Given the description of an element on the screen output the (x, y) to click on. 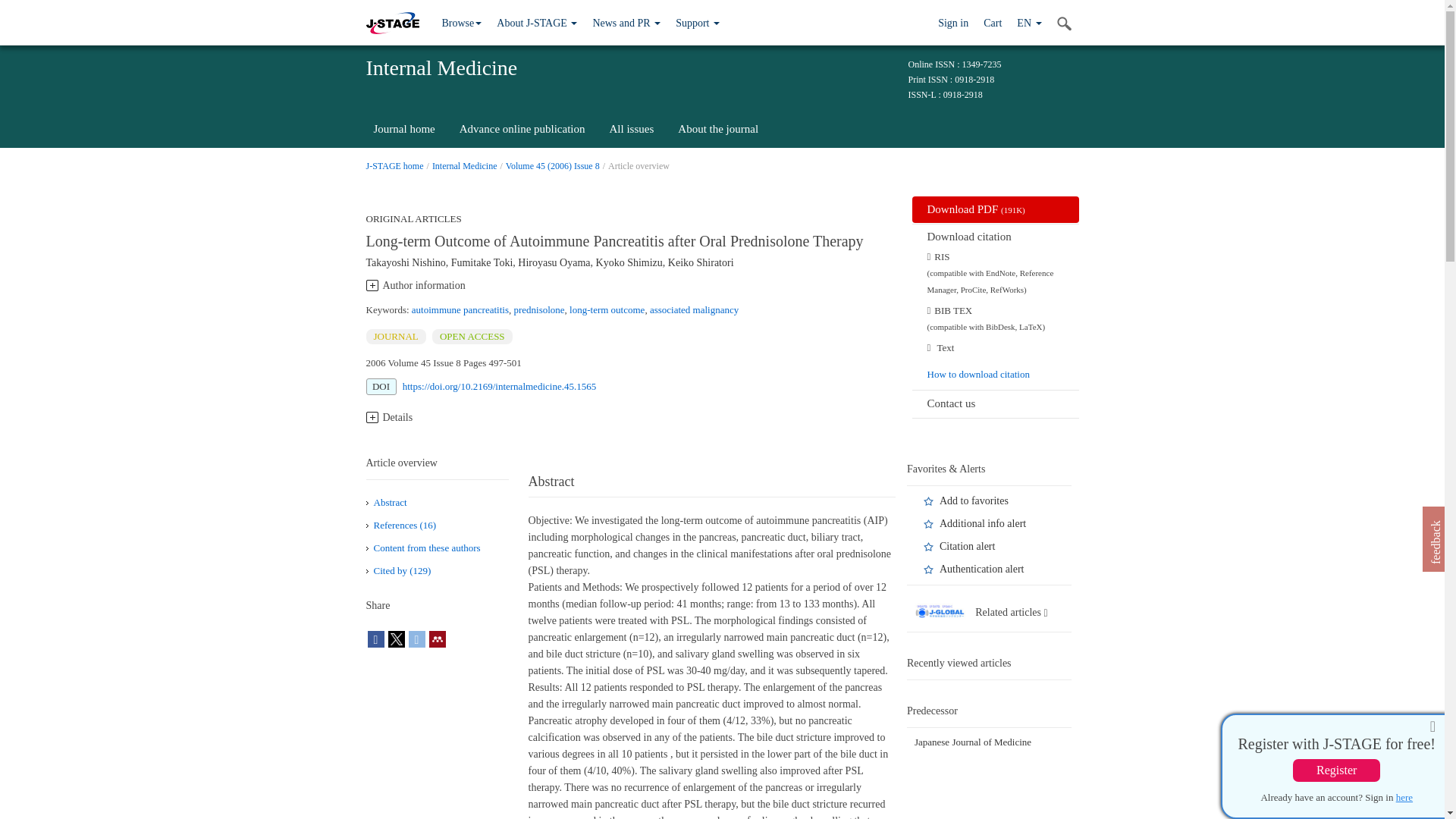
Content from these authors (426, 547)
About J-STAGE (537, 22)
OPEN ACCESS (472, 336)
JOURNAL (395, 336)
References (403, 524)
Browse (461, 22)
Fumitake Toki, Toki Clinic (482, 262)
Abstract (389, 501)
Cited by (401, 570)
